Given the description of an element on the screen output the (x, y) to click on. 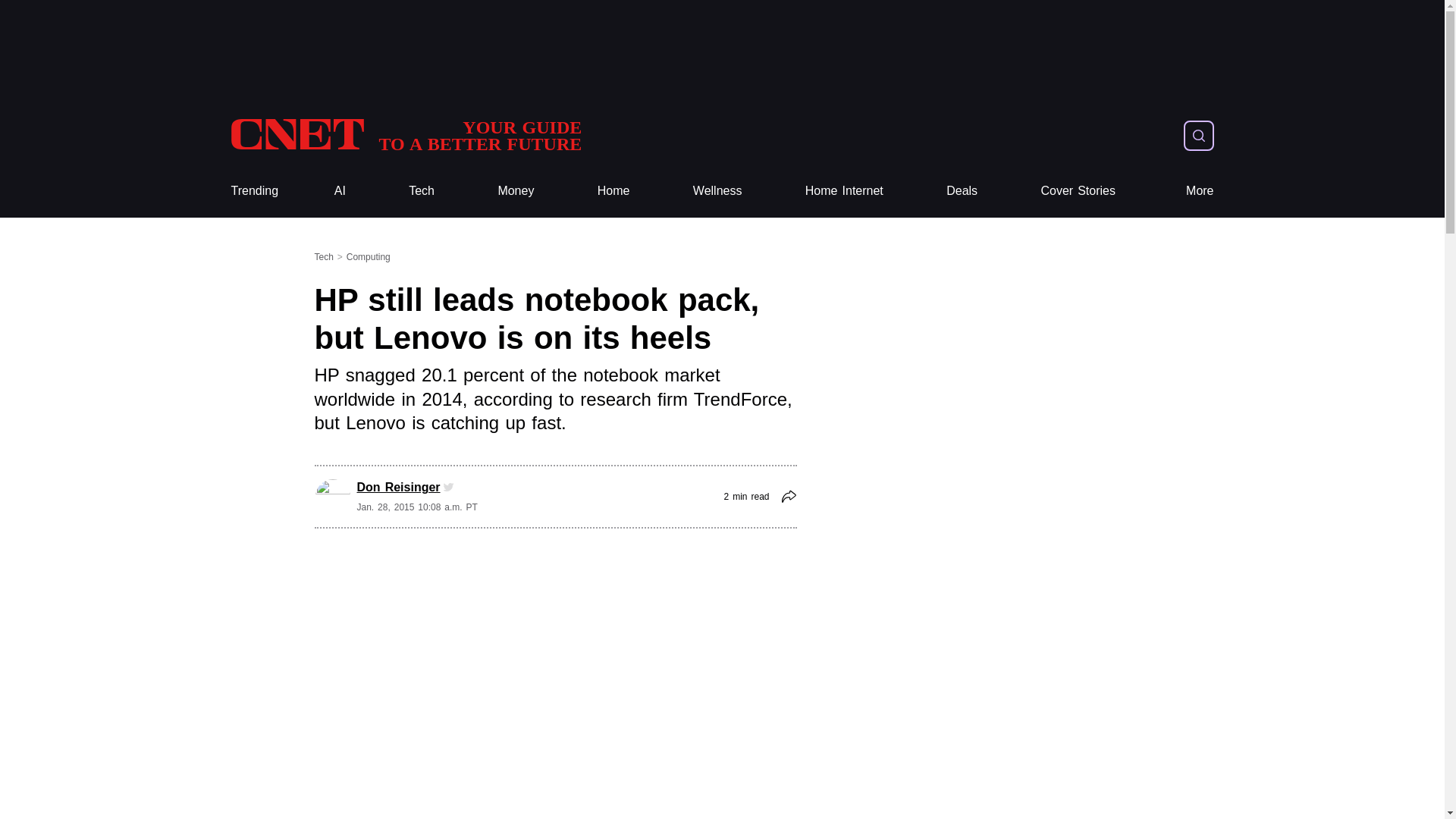
Home Internet (844, 190)
Home (405, 135)
Money (613, 190)
Tech (515, 190)
Trending (421, 190)
Tech (254, 190)
Wellness (421, 190)
Cover Stories (717, 190)
Home Internet (1078, 190)
CNET (844, 190)
Home (405, 135)
Money (613, 190)
Trending (515, 190)
Wellness (254, 190)
